Given the description of an element on the screen output the (x, y) to click on. 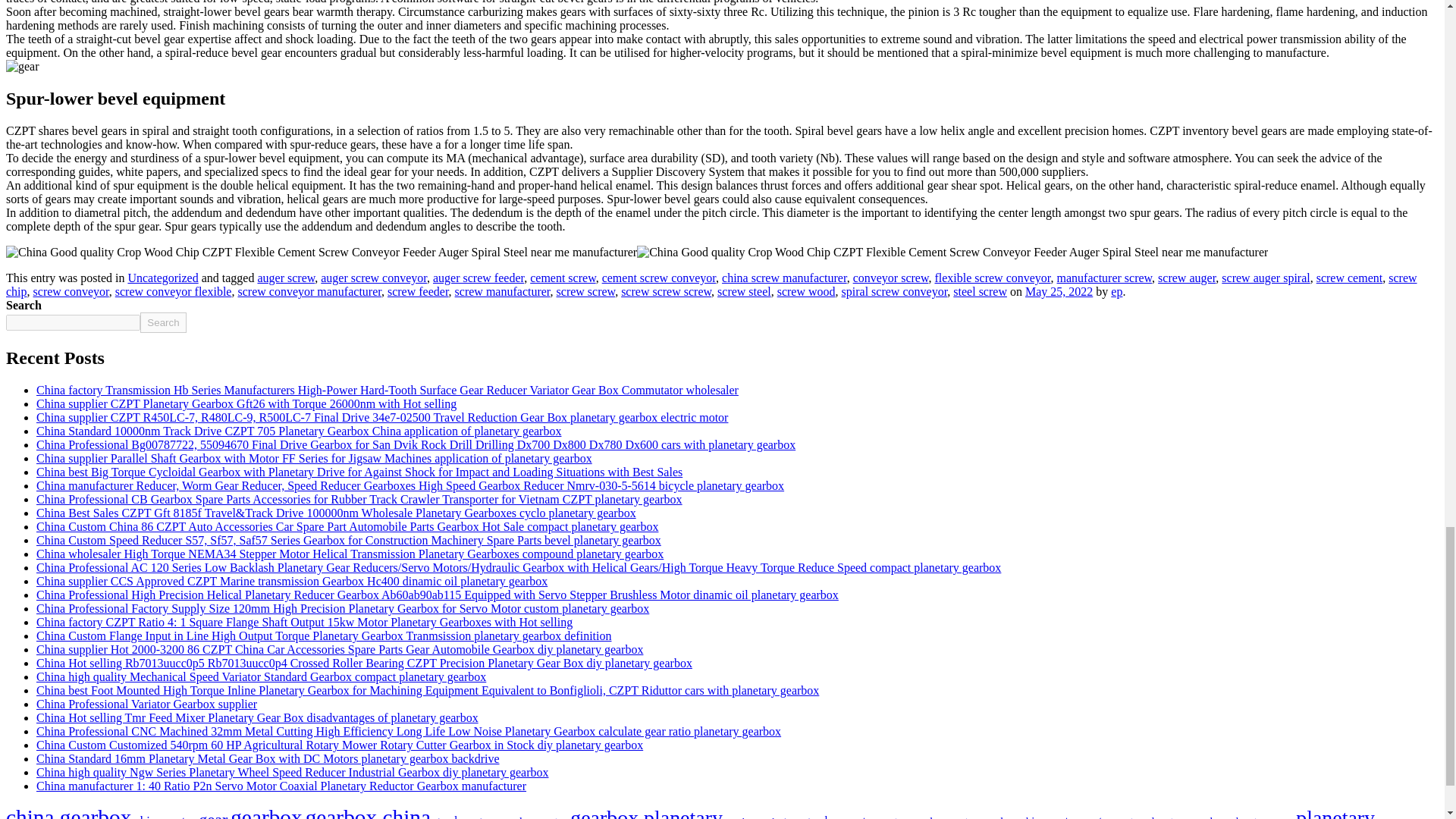
cement screw conveyor (659, 277)
screw manufacturer (502, 291)
screw conveyor manufacturer (308, 291)
auger screw conveyor (373, 277)
11:00 pm (1059, 291)
steel screw (980, 291)
manufacturer screw (1105, 277)
screw chip (710, 284)
conveyor screw (890, 277)
screw screw (585, 291)
Uncategorized (163, 277)
screw wood (806, 291)
flexible screw conveyor (991, 277)
